Given the description of an element on the screen output the (x, y) to click on. 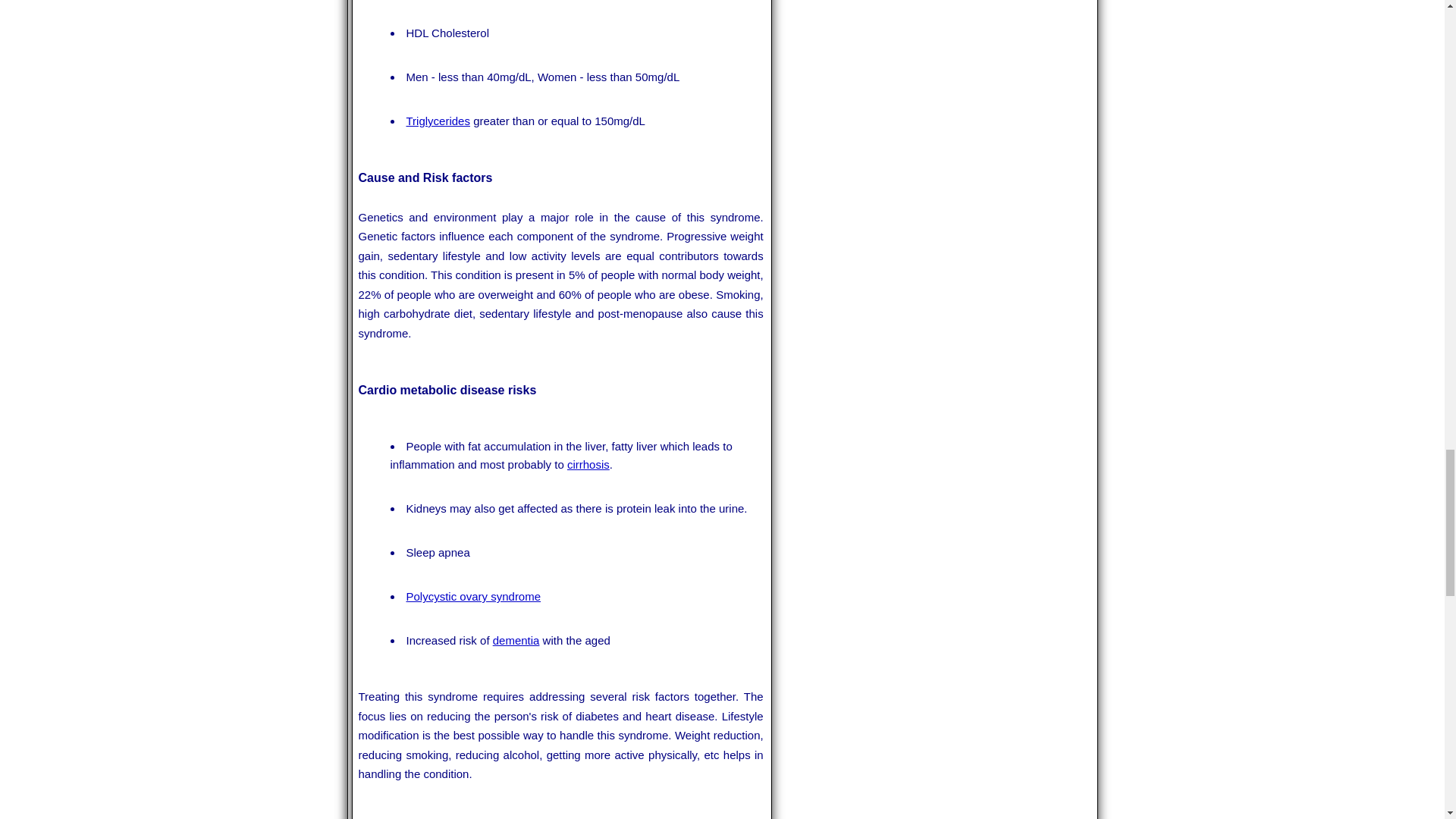
Polycystic ovary syndrome (473, 595)
Triglycerides (438, 120)
dementia (516, 640)
cirrhosis (588, 463)
